Given the description of an element on the screen output the (x, y) to click on. 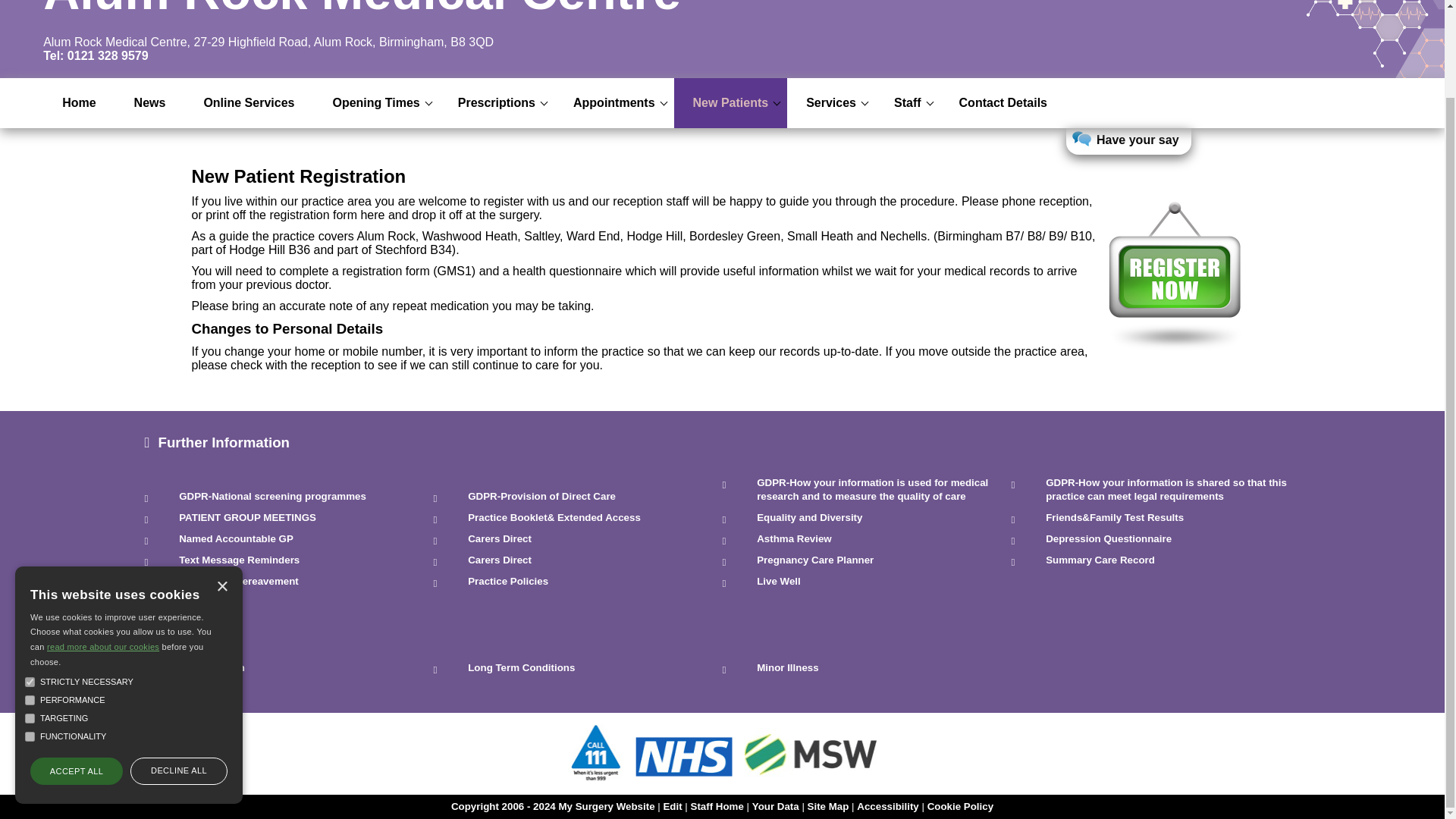
Prescriptions (496, 102)
Alum Rock Medical Centre (362, 10)
Staff (907, 102)
New Patients (730, 102)
News (149, 102)
Alum Rock Medical Centre (362, 10)
Online Services (248, 102)
DECLINE ALL (179, 671)
